Given the description of an element on the screen output the (x, y) to click on. 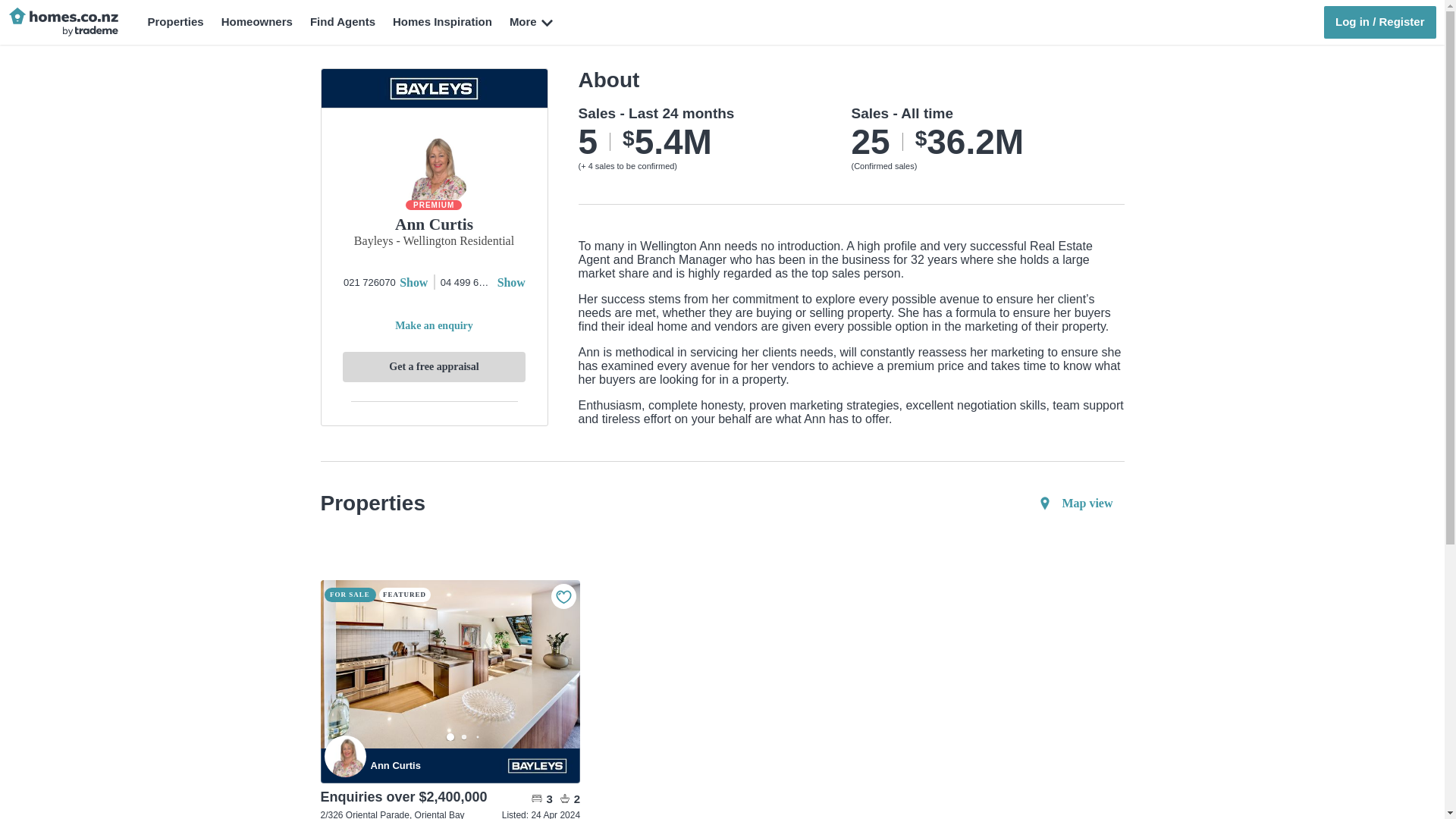
More (534, 22)
Find Agents (342, 22)
021 726070 (369, 282)
Homeowners (256, 22)
Bayleys - Wellington Residential (433, 244)
Ann Curtis (434, 765)
Make an enquiry (433, 326)
04 499 6044 (467, 282)
Show (413, 282)
PREMIUM (433, 204)
Map view (1074, 503)
Homes Inspiration (442, 22)
Show (511, 282)
Get a free appraisal (433, 367)
Ann Curtis (345, 756)
